Given the description of an element on the screen output the (x, y) to click on. 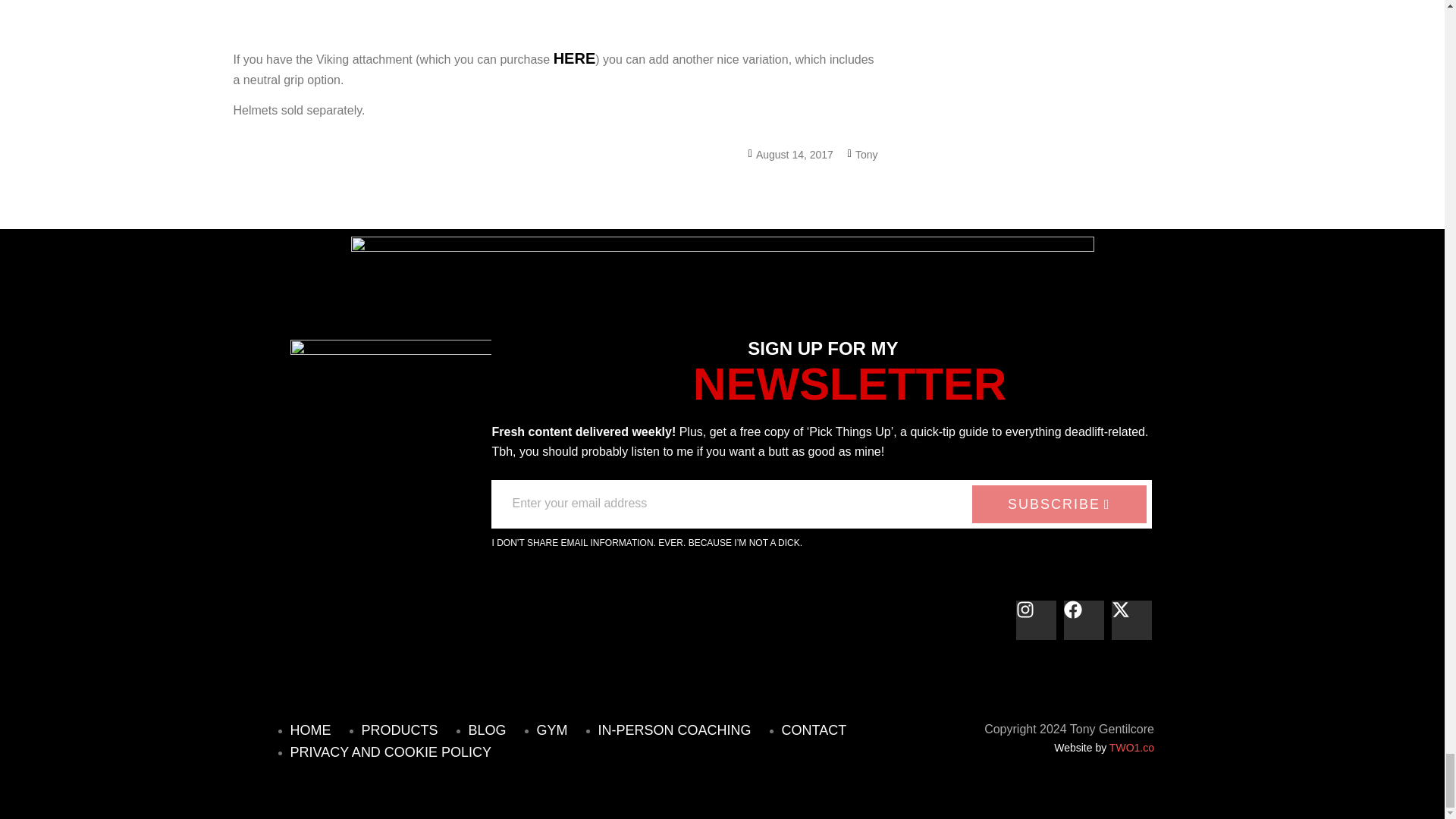
HERE (574, 59)
August 14, 2017 (790, 154)
Tony (862, 154)
